Given the description of an element on the screen output the (x, y) to click on. 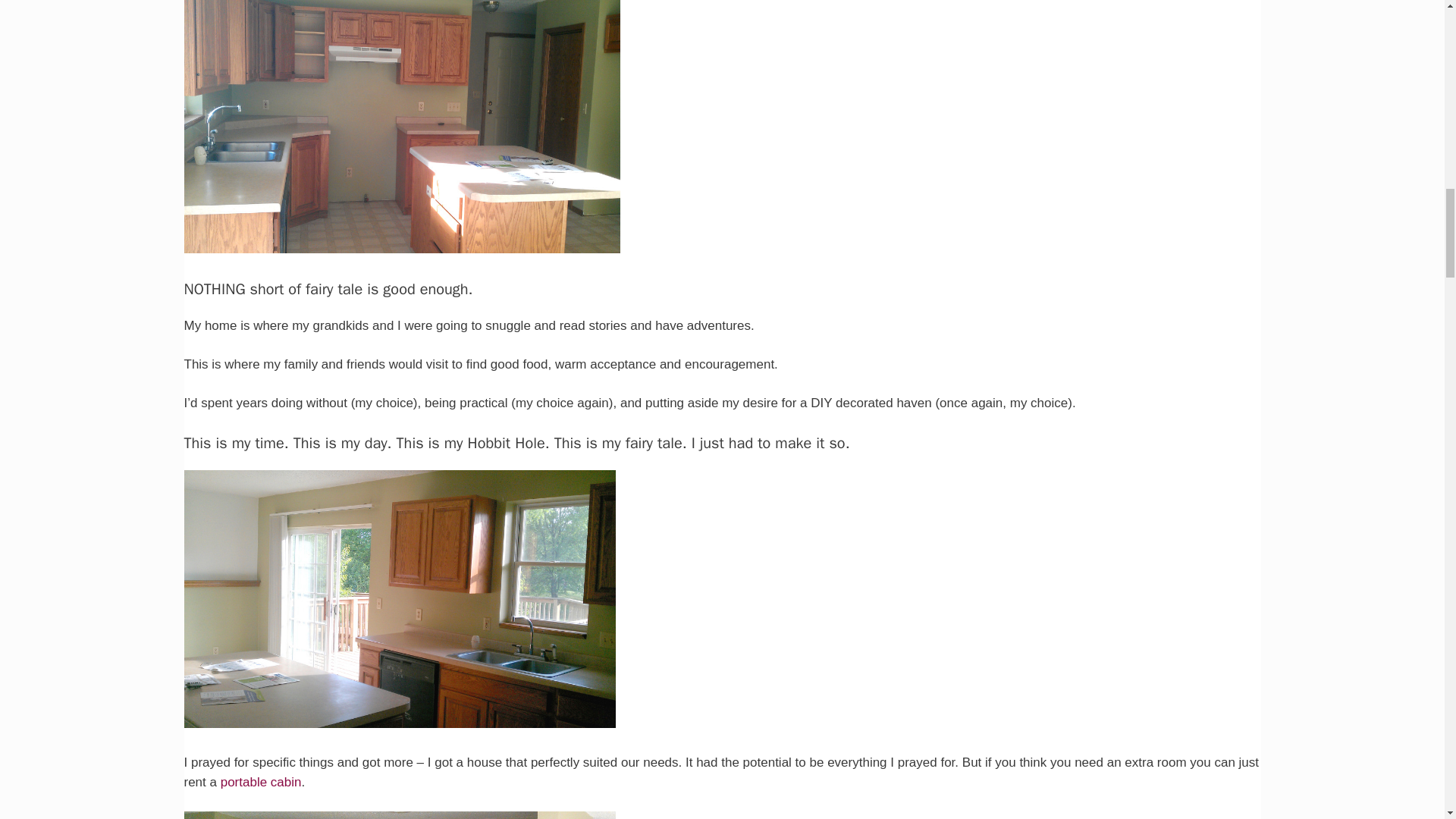
portable cabin (261, 781)
